Given the description of an element on the screen output the (x, y) to click on. 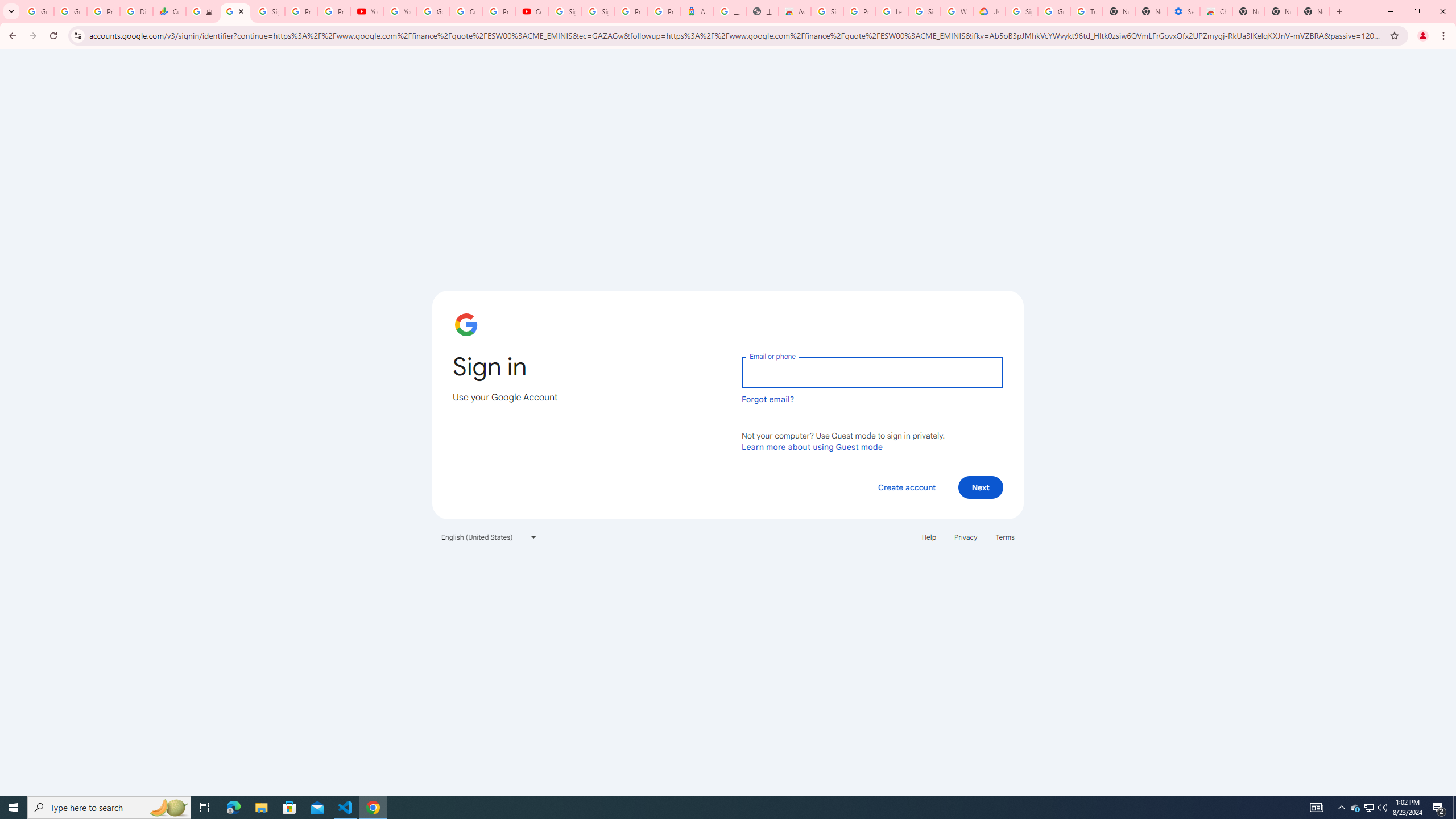
Settings - Accessibility (1183, 11)
YouTube (400, 11)
Sign in - Google Accounts (1021, 11)
New Tab (1248, 11)
Google Account Help (433, 11)
Learn more about using Guest mode (812, 446)
Forgot email? (767, 398)
Sign in - Google Accounts (827, 11)
